Given the description of an element on the screen output the (x, y) to click on. 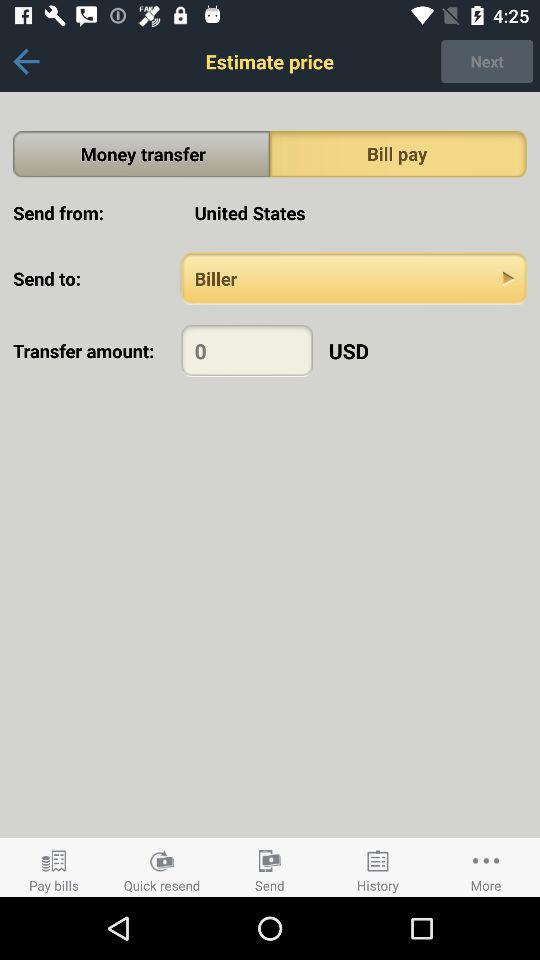
money transfer amount (246, 350)
